Given the description of an element on the screen output the (x, y) to click on. 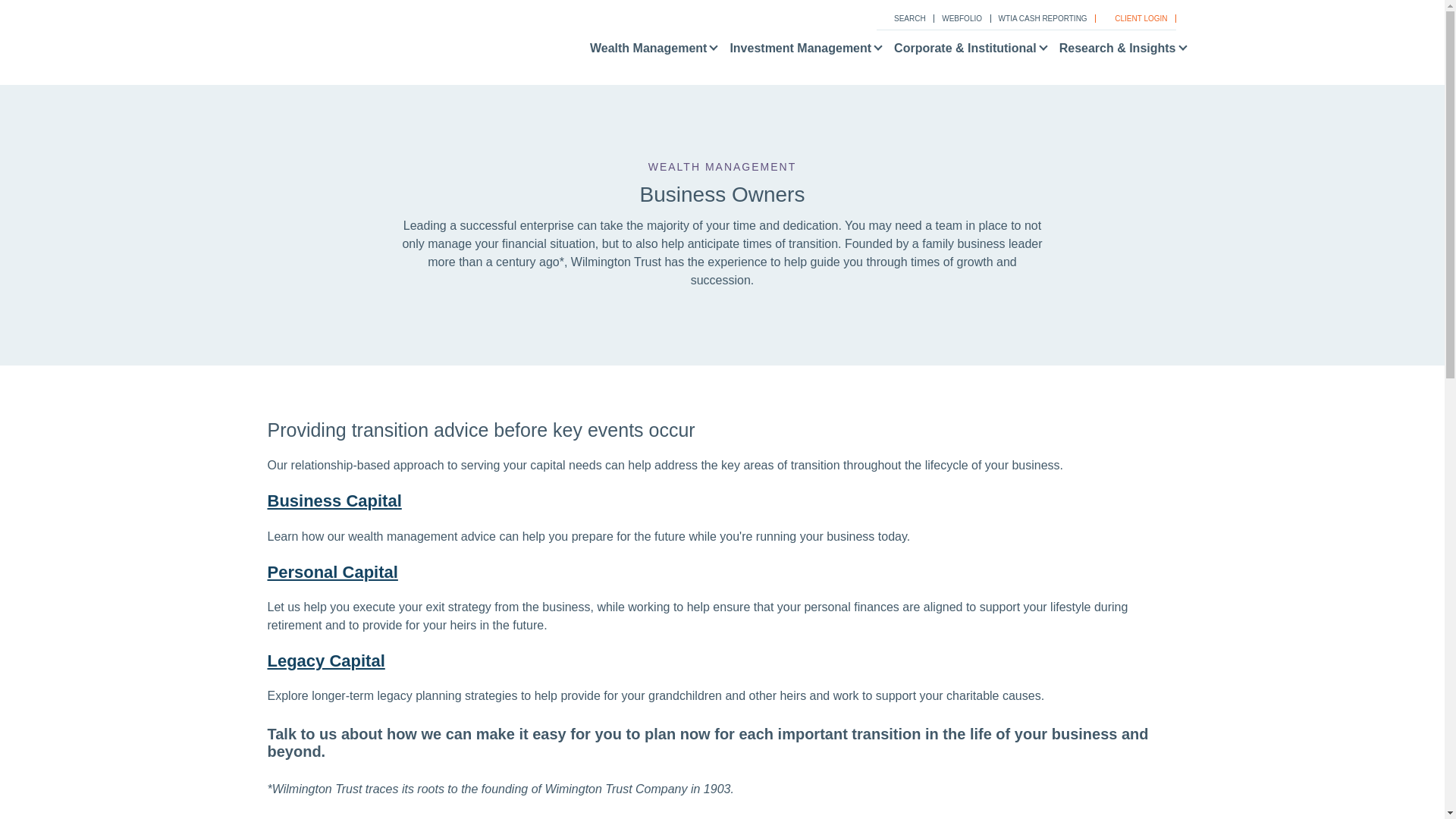
WEBFOLIO (959, 18)
Wilmington Trust Logo (347, 48)
Wilmington Trust Logo (359, 42)
CLIENT LOGIN (1134, 18)
SEARCH (902, 18)
Wealth Management (647, 51)
WTIA CASH REPORTING (1040, 18)
Investment Management (799, 51)
